Given the description of an element on the screen output the (x, y) to click on. 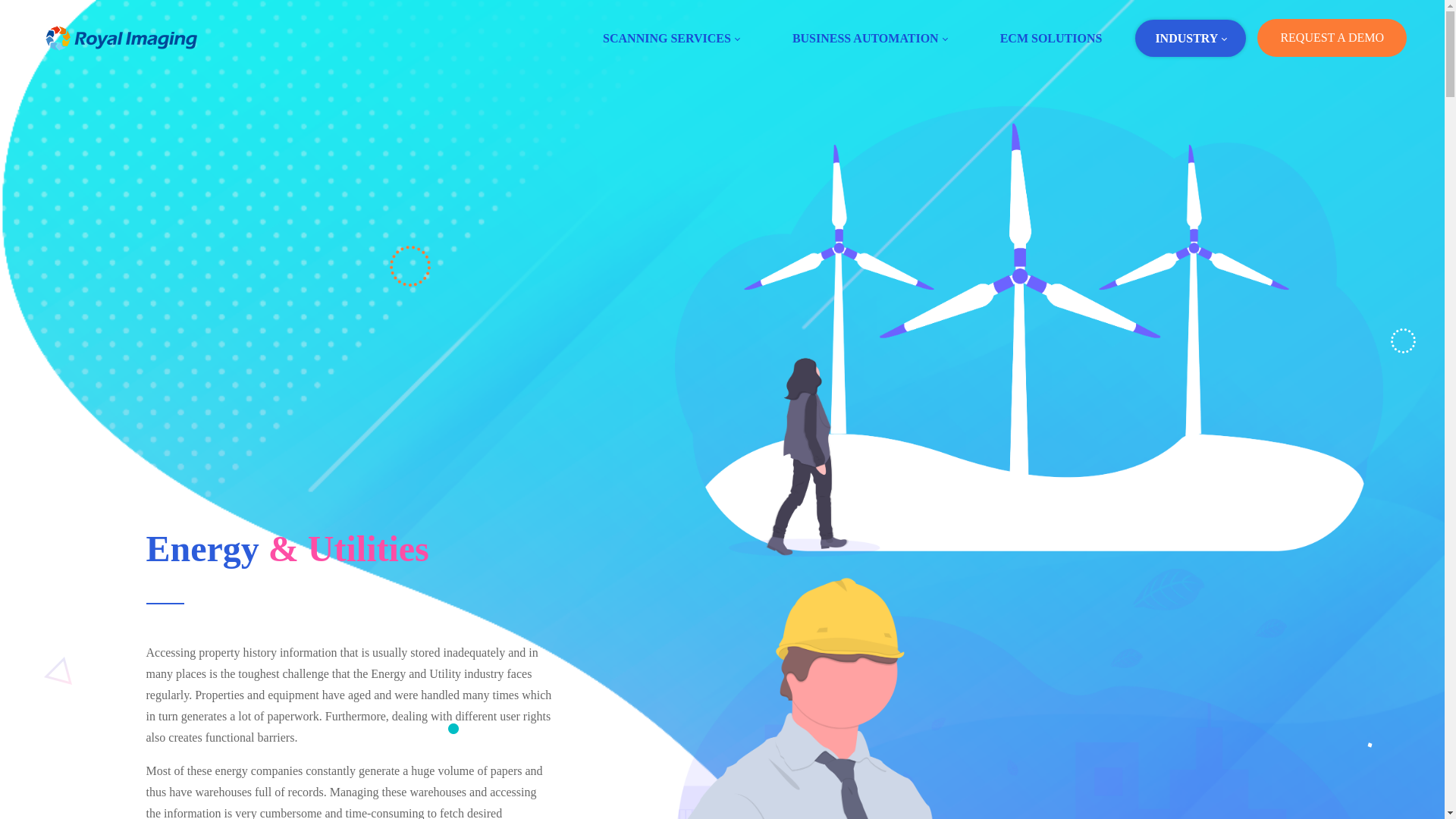
Industry (1190, 37)
Business Automation  (869, 37)
Royalimaging (120, 37)
ECM SOLUTIONS (1050, 37)
ECM Solutions (1050, 37)
SCANNING SERVICES (670, 37)
INDUSTRY (1190, 37)
Scanning Services (670, 37)
BUSINESS AUTOMATION (869, 37)
REQUEST A DEMO (1331, 37)
